Given the description of an element on the screen output the (x, y) to click on. 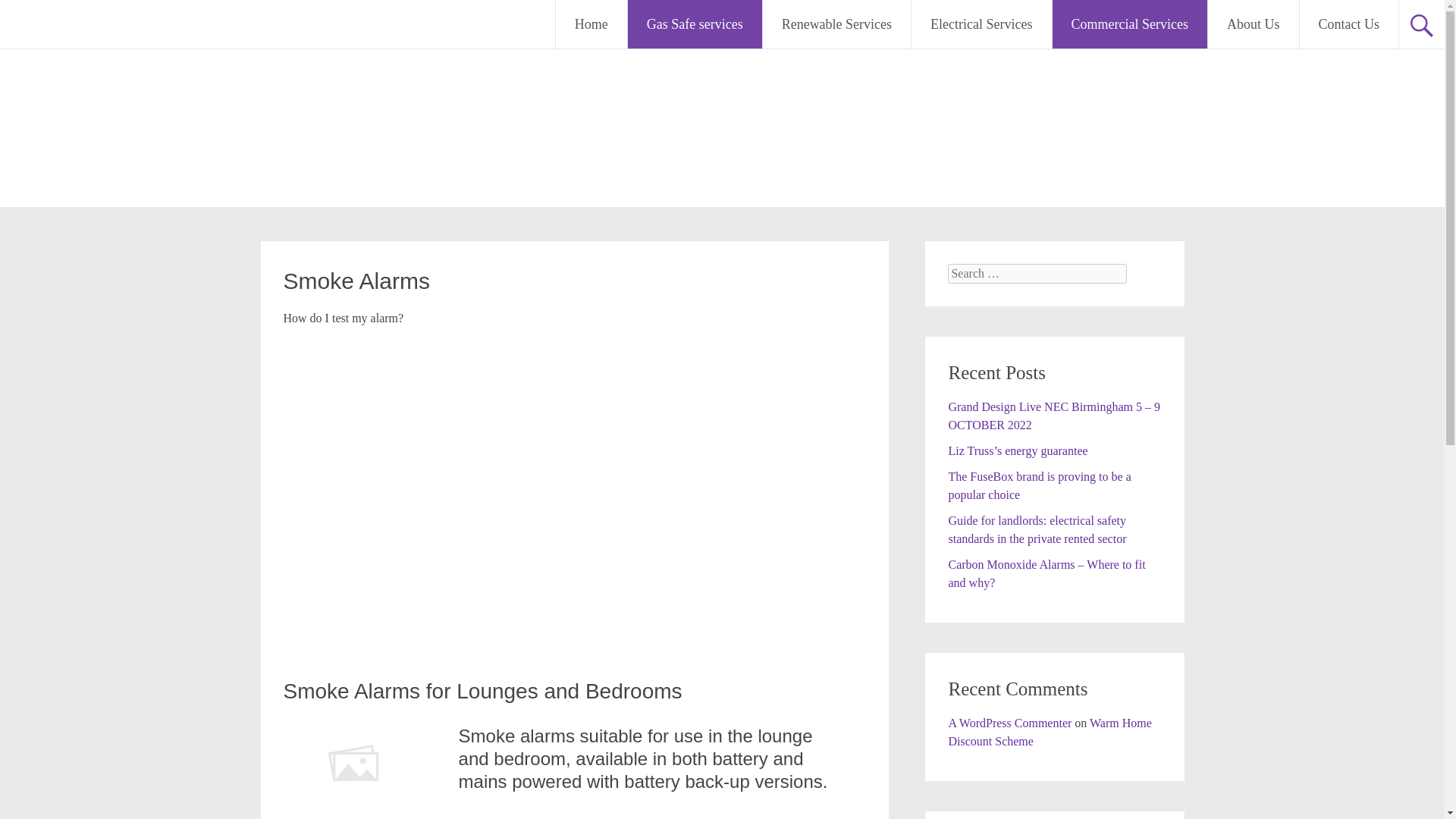
Contact Us (1349, 24)
Home (591, 24)
About Us (1253, 24)
Gas Safe services (694, 24)
Commercial Services (1129, 24)
Electrical Services (981, 24)
Renewable Services (836, 24)
